Given the description of an element on the screen output the (x, y) to click on. 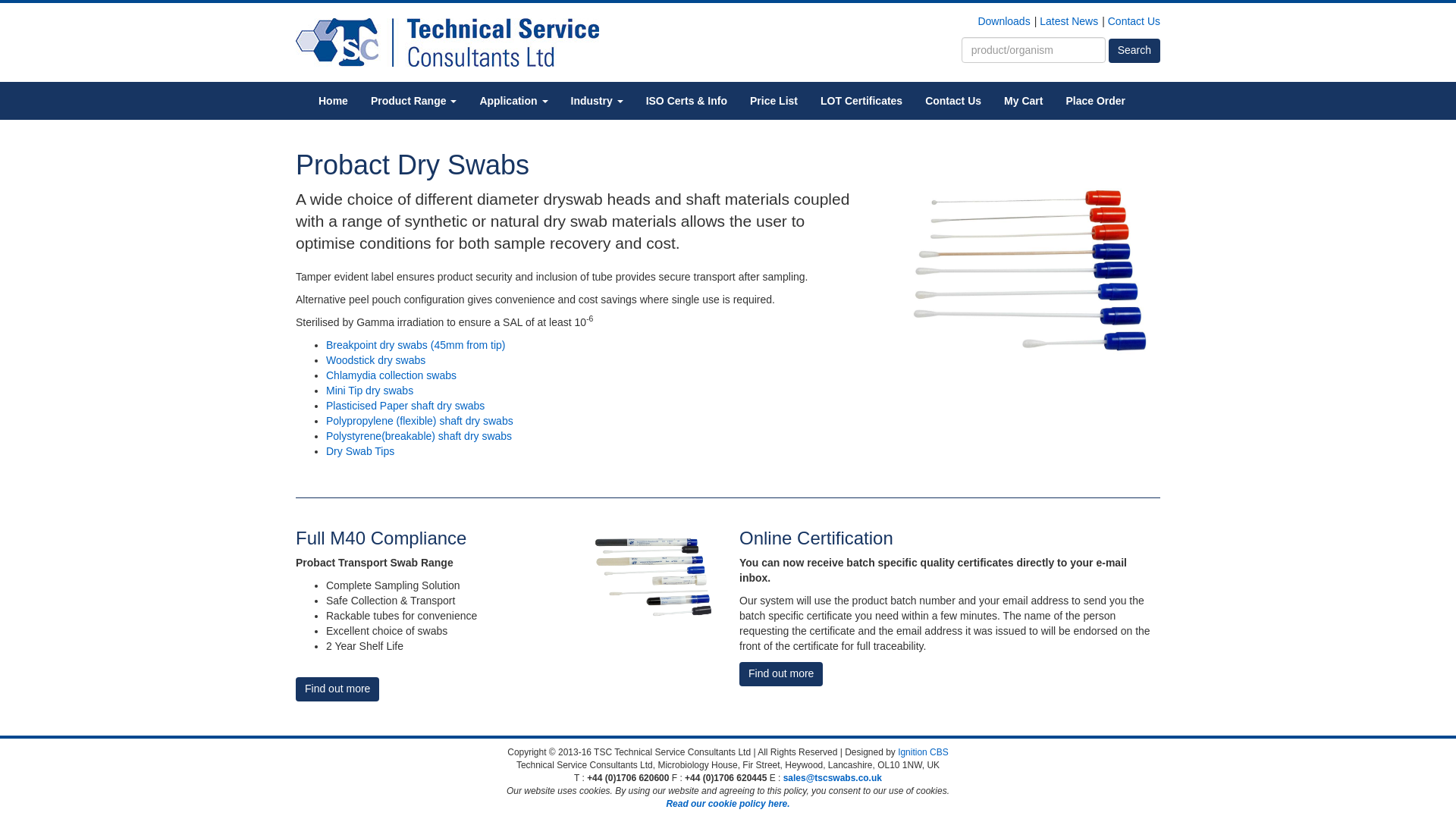
Search (1134, 50)
Technical Service Consultants Ltd (446, 42)
Home (333, 100)
Ignition CBS - Website Design (923, 751)
Probact Transport Swabs (653, 575)
Contact Us (1134, 21)
Latest News (1068, 21)
Downloads (1002, 21)
Product Range (413, 100)
Search (1134, 50)
